Given the description of an element on the screen output the (x, y) to click on. 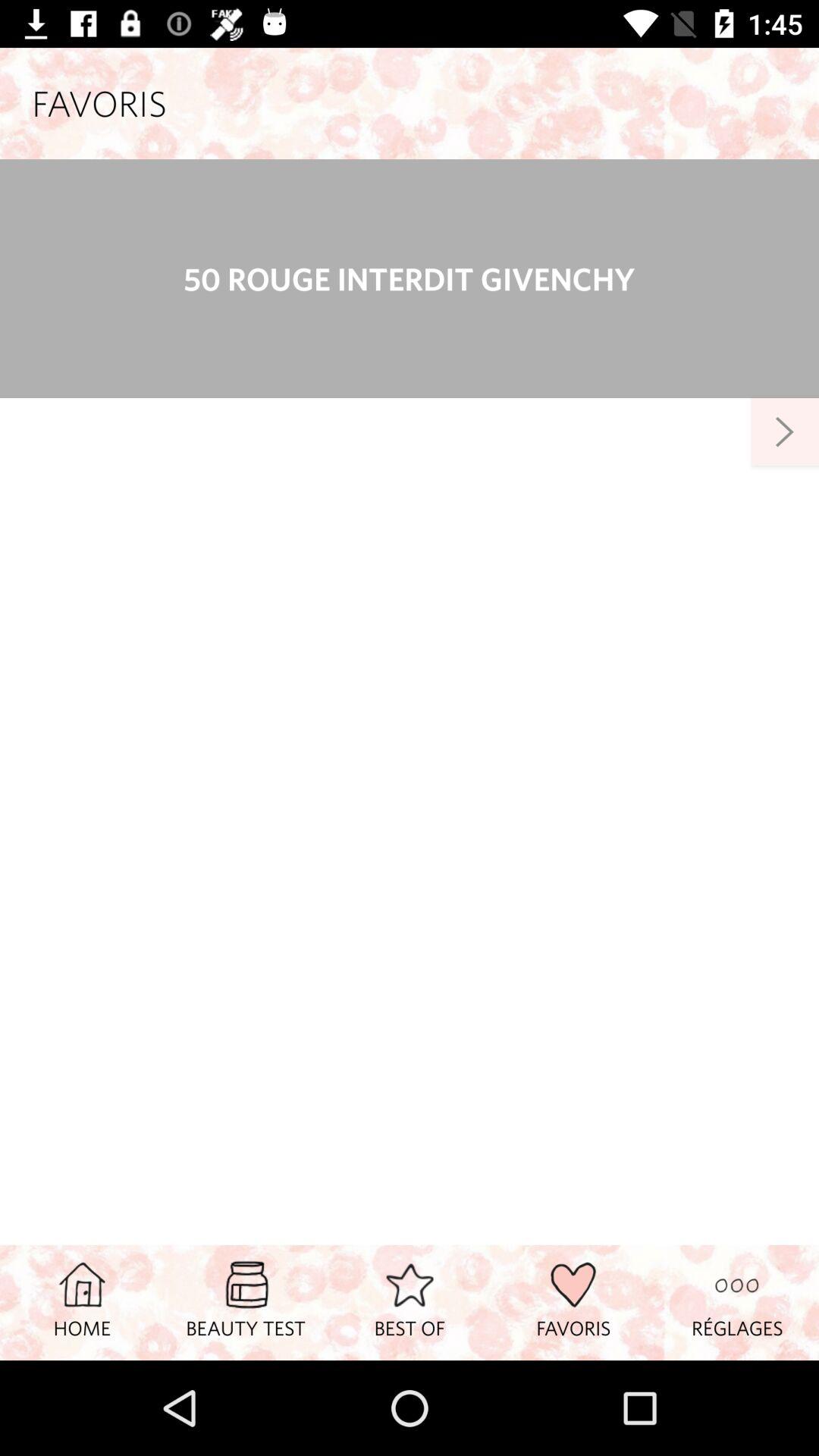
select the icon next to home (245, 1302)
